Given the description of an element on the screen output the (x, y) to click on. 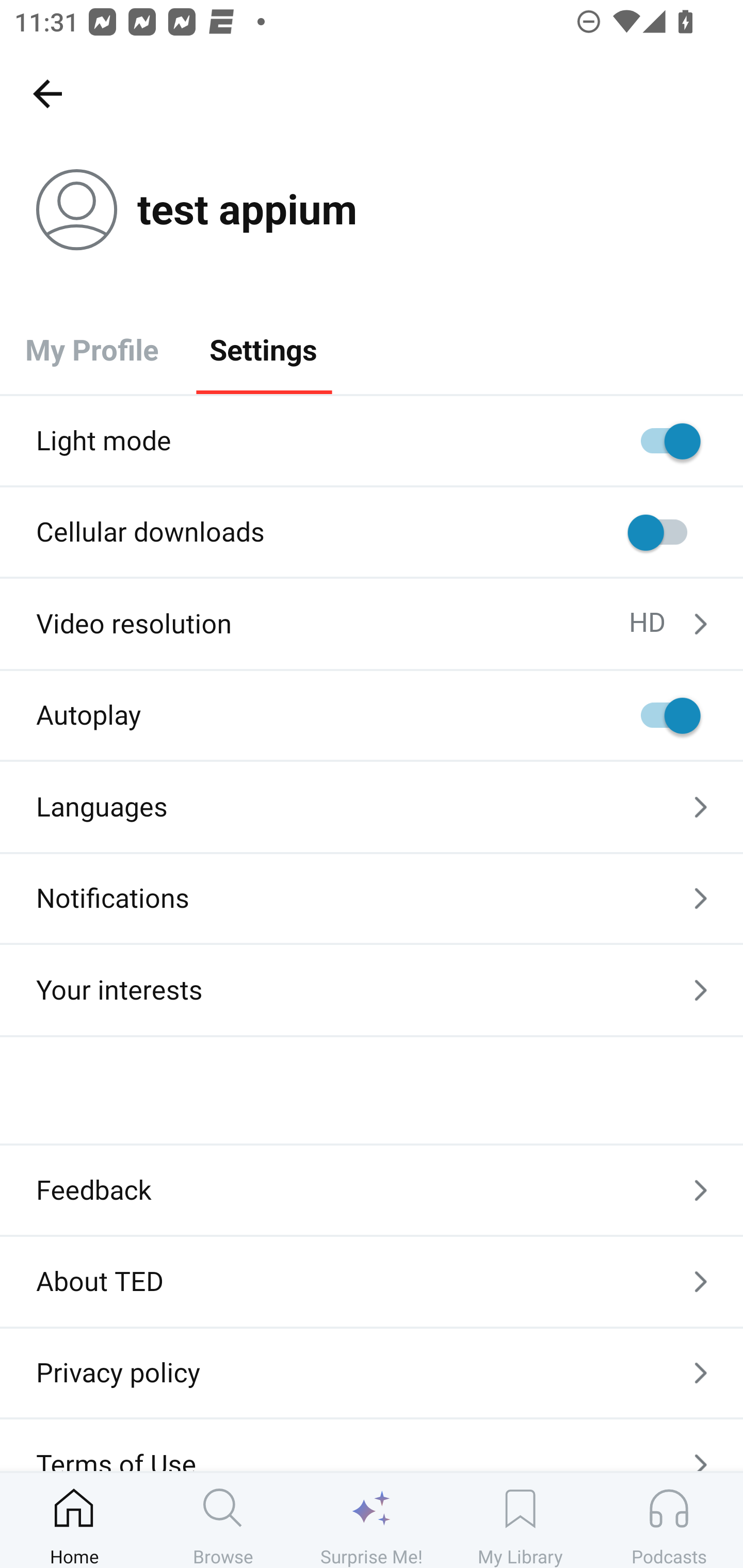
Home, back (47, 92)
My Profile (92, 348)
Settings (263, 348)
Video resolution HD (371, 623)
Languages (371, 806)
Notifications (371, 897)
Your interests (371, 989)
Feedback (371, 1190)
About TED (371, 1281)
Privacy policy (371, 1372)
Terms of Use (371, 1445)
Home (74, 1520)
Browse (222, 1520)
Surprise Me! (371, 1520)
My Library (519, 1520)
Podcasts (668, 1520)
